Given the description of an element on the screen output the (x, y) to click on. 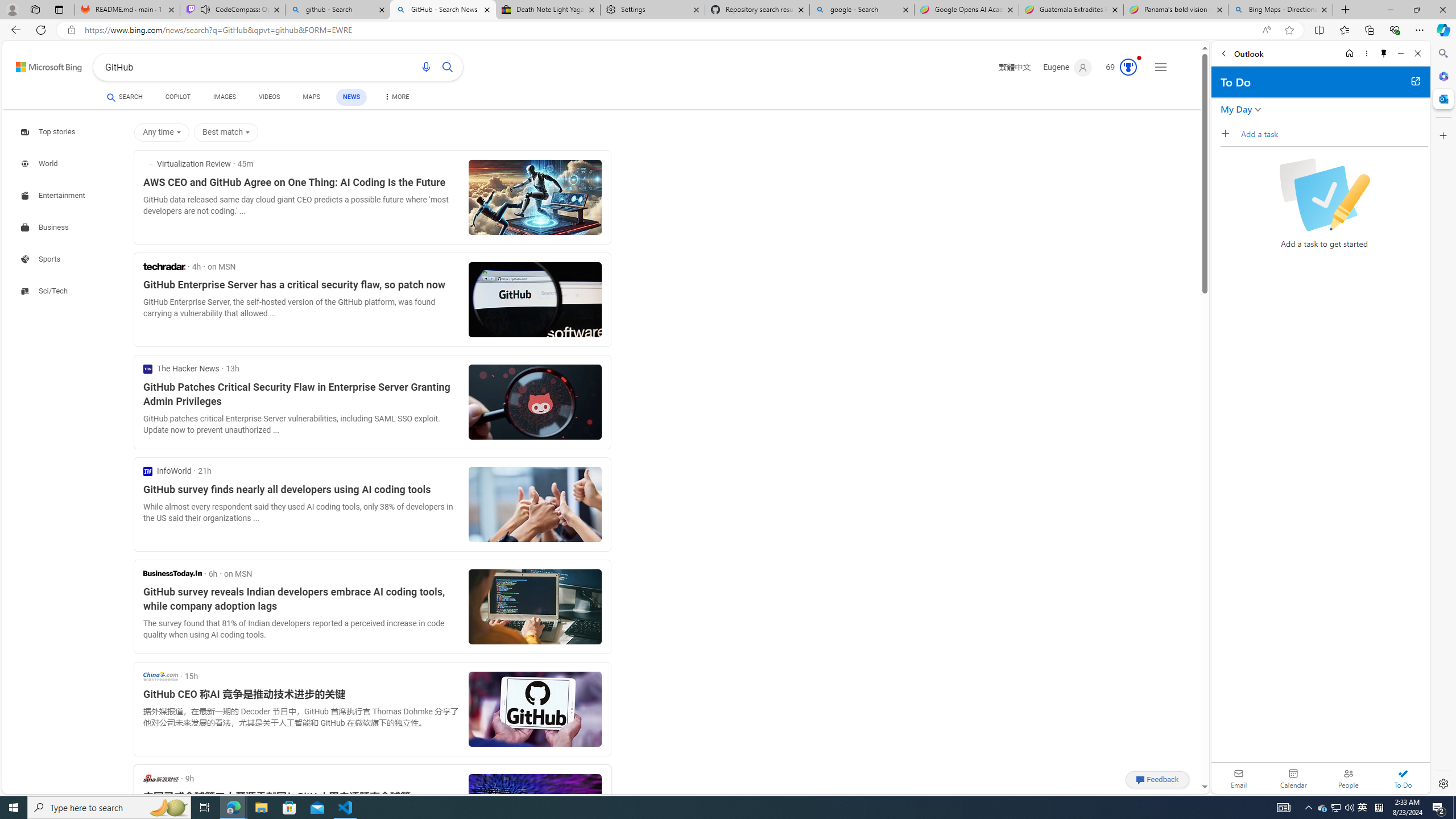
AutomationID: rh_meter (1128, 66)
Microsoft Rewards 66 (1118, 67)
Business Today (172, 573)
People (1347, 777)
AutomationID: serp_medal_svg (1128, 67)
Eugene (1067, 67)
Search news about Business (46, 227)
Checkbox with a pencil (1324, 194)
